Given the description of an element on the screen output the (x, y) to click on. 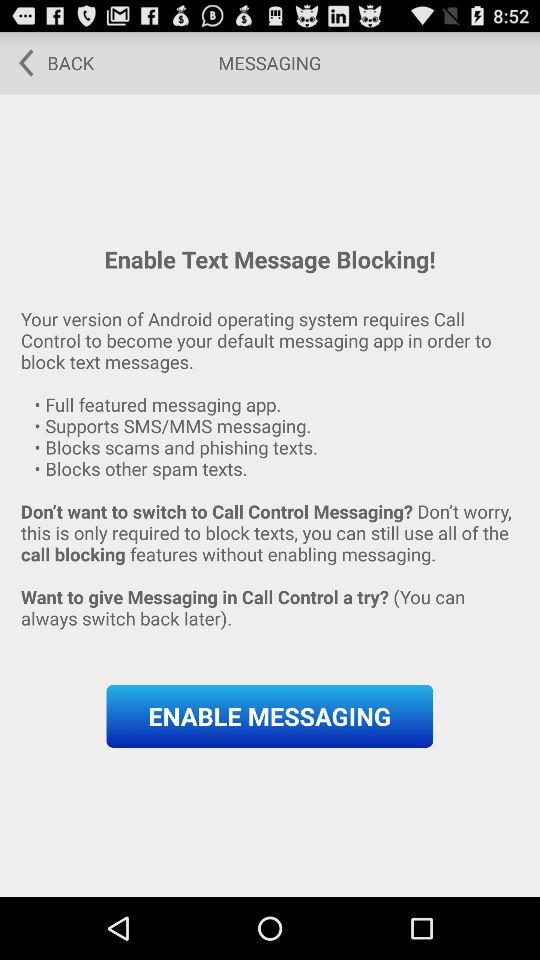
turn off back item (49, 62)
